Given the description of an element on the screen output the (x, y) to click on. 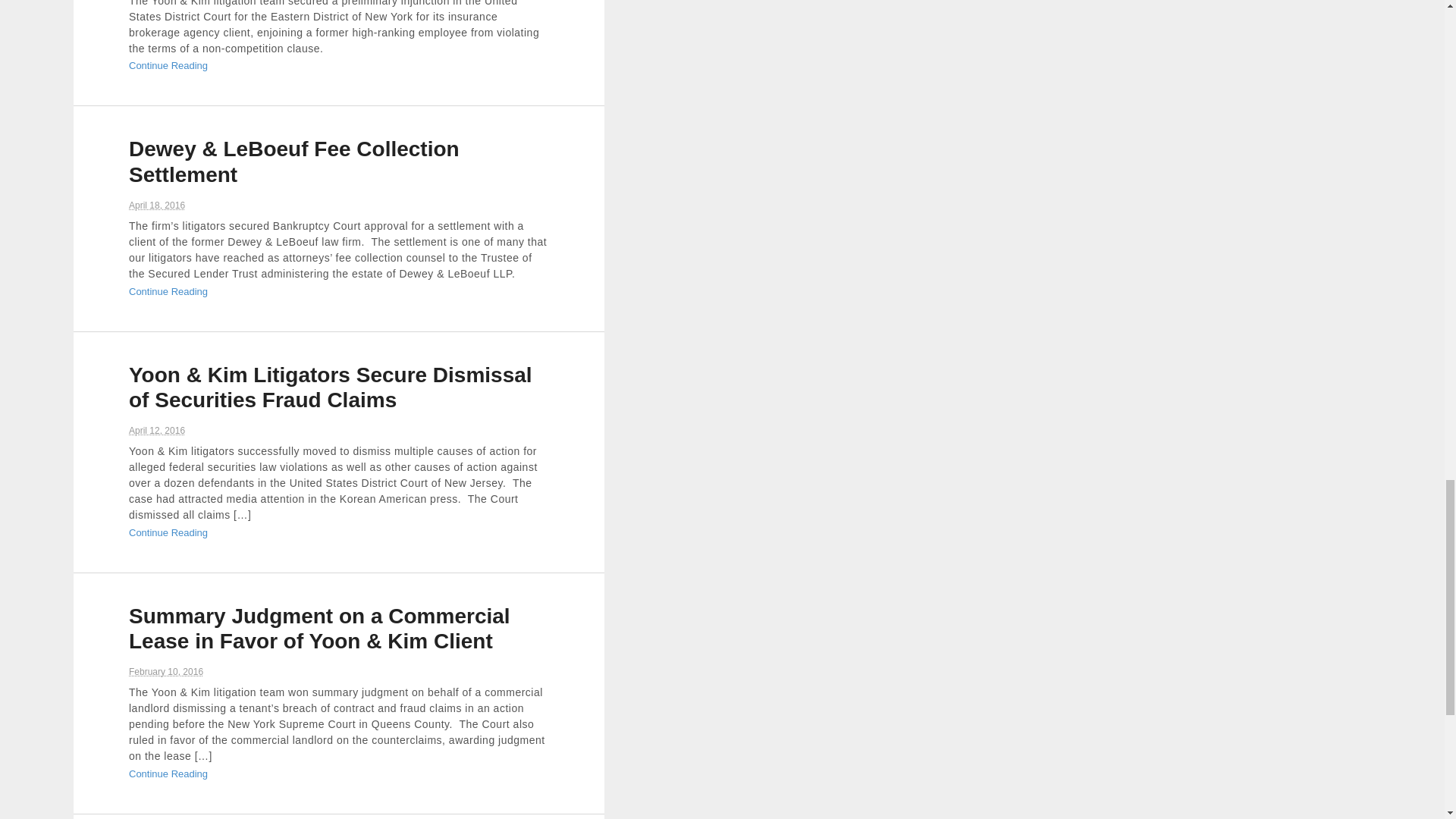
Continue Reading (168, 291)
Continue Reading (168, 532)
Continue Reading (168, 65)
Continue Reading (168, 773)
